Given the description of an element on the screen output the (x, y) to click on. 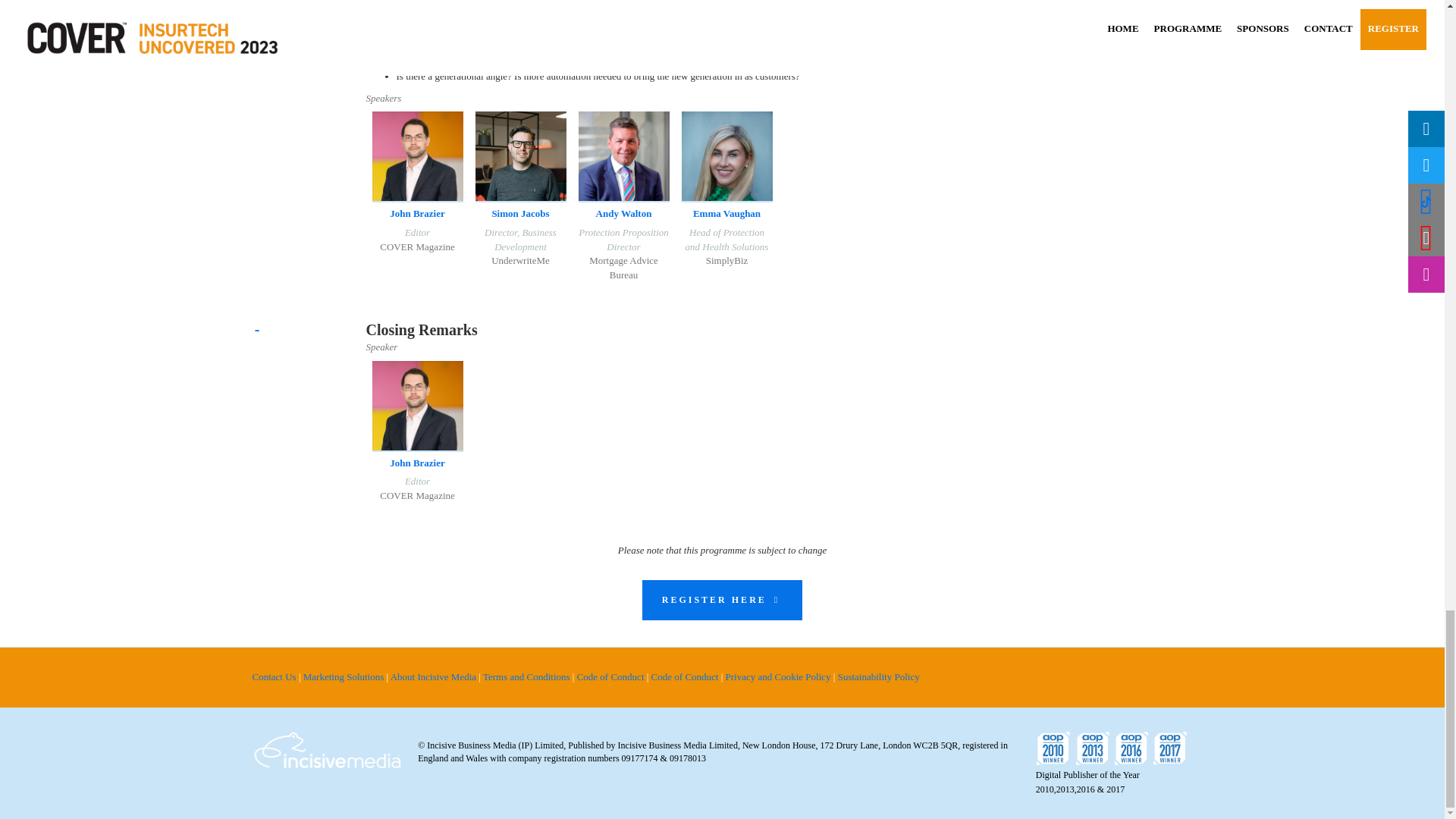
Andy Walton (623, 213)
Marketing Solutions (344, 676)
Code of Conduct (611, 676)
Contact Us (274, 676)
Emma Vaughan (726, 213)
Privacy and Cookie Policy (778, 676)
Simon Jacobs (520, 213)
Code of Conduct (685, 676)
Sustainability Policy (879, 676)
About Incisive Media (434, 676)
REGISTER HERE (722, 599)
Terms and Conditions (527, 676)
John Brazier (417, 462)
John Brazier (417, 213)
